Given the description of an element on the screen output the (x, y) to click on. 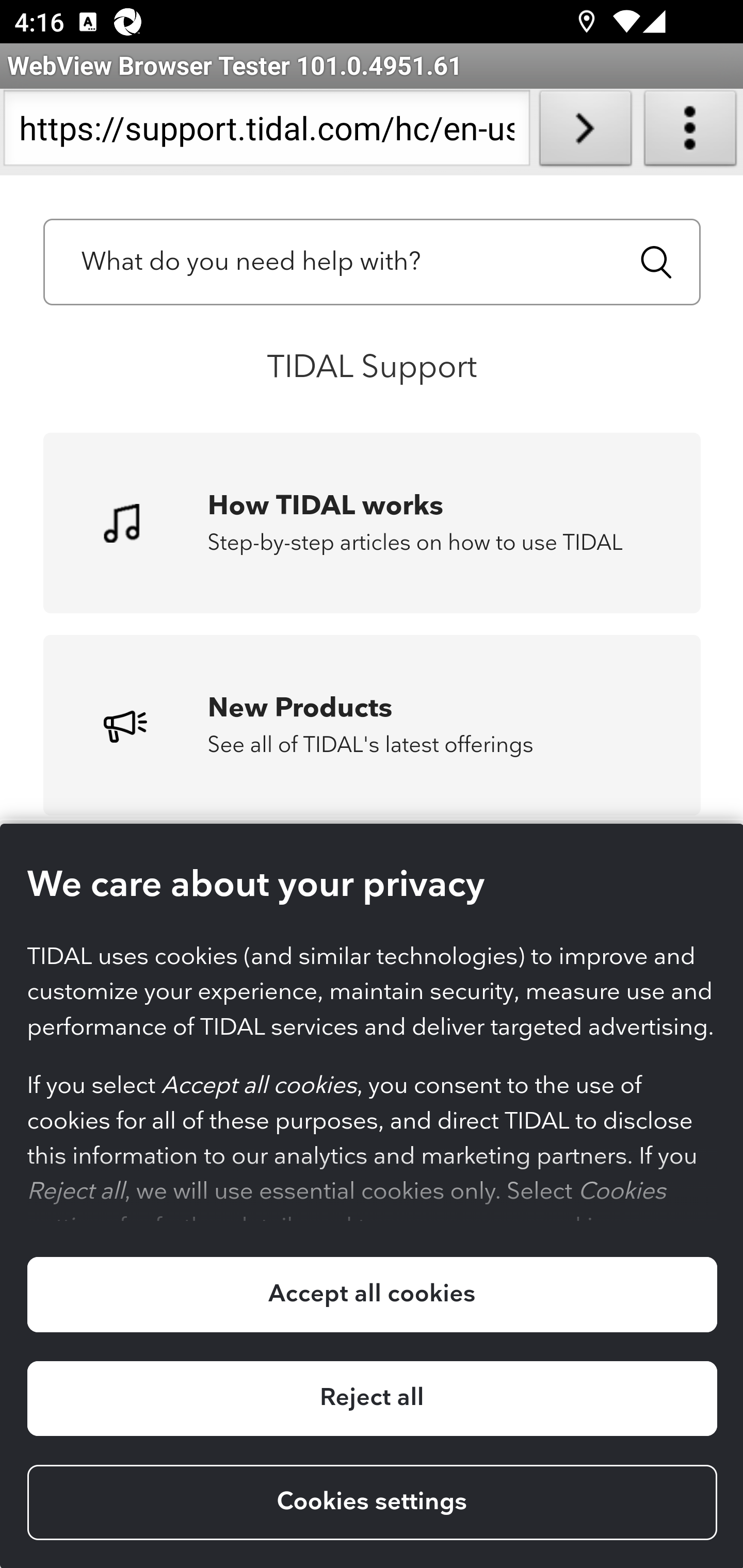
Load URL (585, 132)
About WebView (690, 132)
Accept all cookies (371, 1293)
Reject all (371, 1397)
Cookies settings (371, 1502)
